Given the description of an element on the screen output the (x, y) to click on. 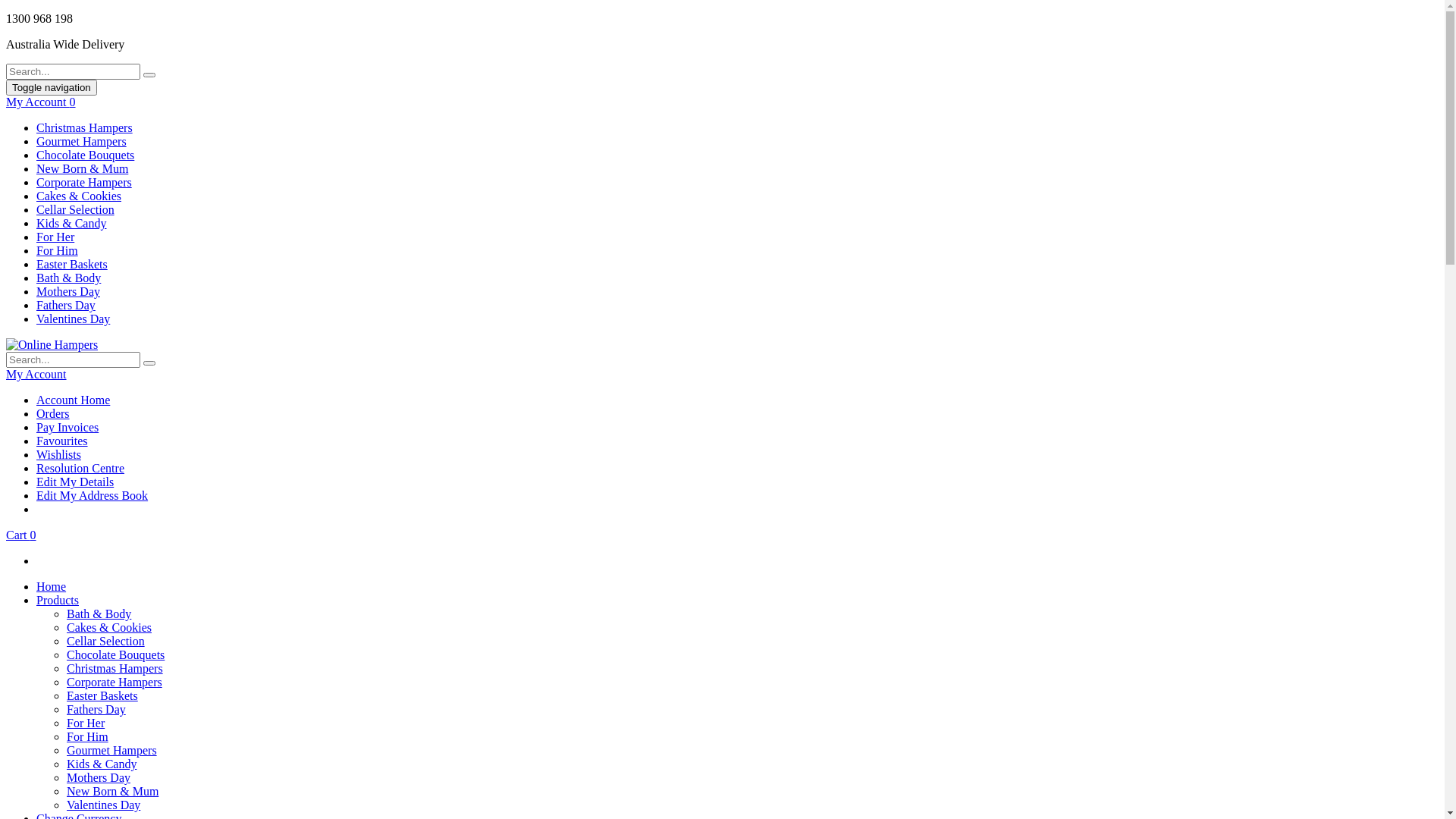
Orders Element type: text (52, 413)
Cakes & Cookies Element type: text (108, 627)
Gourmet Hampers Element type: text (111, 749)
For Him Element type: text (87, 736)
Fathers Day Element type: text (65, 304)
Christmas Hampers Element type: text (84, 127)
Wishlists Element type: text (58, 454)
Bath & Body Element type: text (68, 277)
Cellar Selection Element type: text (105, 640)
Bath & Body Element type: text (98, 613)
Valentines Day Element type: text (103, 804)
Gourmet Hampers Element type: text (81, 140)
Christmas Hampers Element type: text (114, 668)
Edit My Details Element type: text (74, 481)
Kids & Candy Element type: text (71, 222)
Search Element type: text (149, 362)
Kids & Candy Element type: text (101, 763)
Pay Invoices Element type: text (67, 426)
Online Hampers Element type: hover (51, 344)
Home Element type: text (50, 586)
Resolution Centre Element type: text (80, 467)
Mothers Day Element type: text (68, 291)
0 Element type: text (72, 101)
Mothers Day Element type: text (98, 777)
My Account Element type: text (36, 373)
Valentines Day Element type: text (72, 318)
My Account Element type: text (37, 101)
Search Element type: text (149, 74)
New Born & Mum Element type: text (82, 168)
Products Element type: text (57, 599)
For Her Element type: text (55, 236)
New Born & Mum Element type: text (112, 790)
For Her Element type: text (85, 722)
Corporate Hampers Element type: text (83, 181)
Chocolate Bouquets Element type: text (85, 154)
Fathers Day Element type: text (95, 708)
Corporate Hampers Element type: text (114, 681)
Favourites Element type: text (61, 440)
Toggle navigation Element type: text (51, 87)
Edit My Address Book Element type: text (91, 495)
Cellar Selection Element type: text (75, 209)
Easter Baskets Element type: text (102, 695)
Account Home Element type: text (72, 399)
Cakes & Cookies Element type: text (78, 195)
Cart 0 Element type: text (21, 534)
For Him Element type: text (57, 250)
Chocolate Bouquets Element type: text (115, 654)
Easter Baskets Element type: text (71, 263)
